Given the description of an element on the screen output the (x, y) to click on. 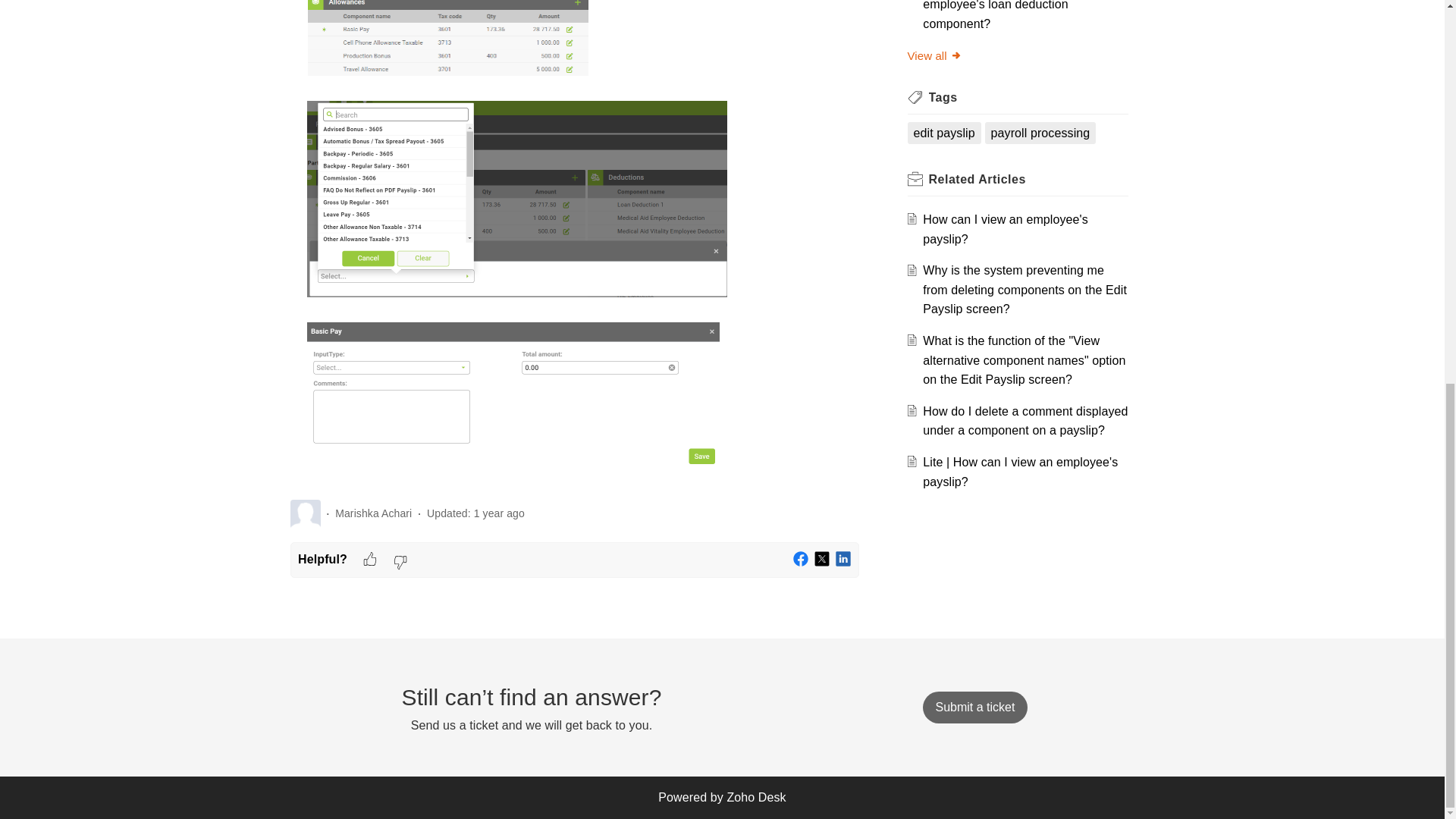
Zoho Desk (756, 797)
edit payslip (943, 133)
LinkedIn (842, 558)
Twitter (821, 558)
30 Mar 2023 08:37 PM (499, 512)
Submit a ticket (974, 707)
View all (933, 55)
How can I view an employee's payslip? (1005, 228)
Submit a ticket (974, 707)
payroll processing (1040, 133)
Facebook (800, 558)
